Given the description of an element on the screen output the (x, y) to click on. 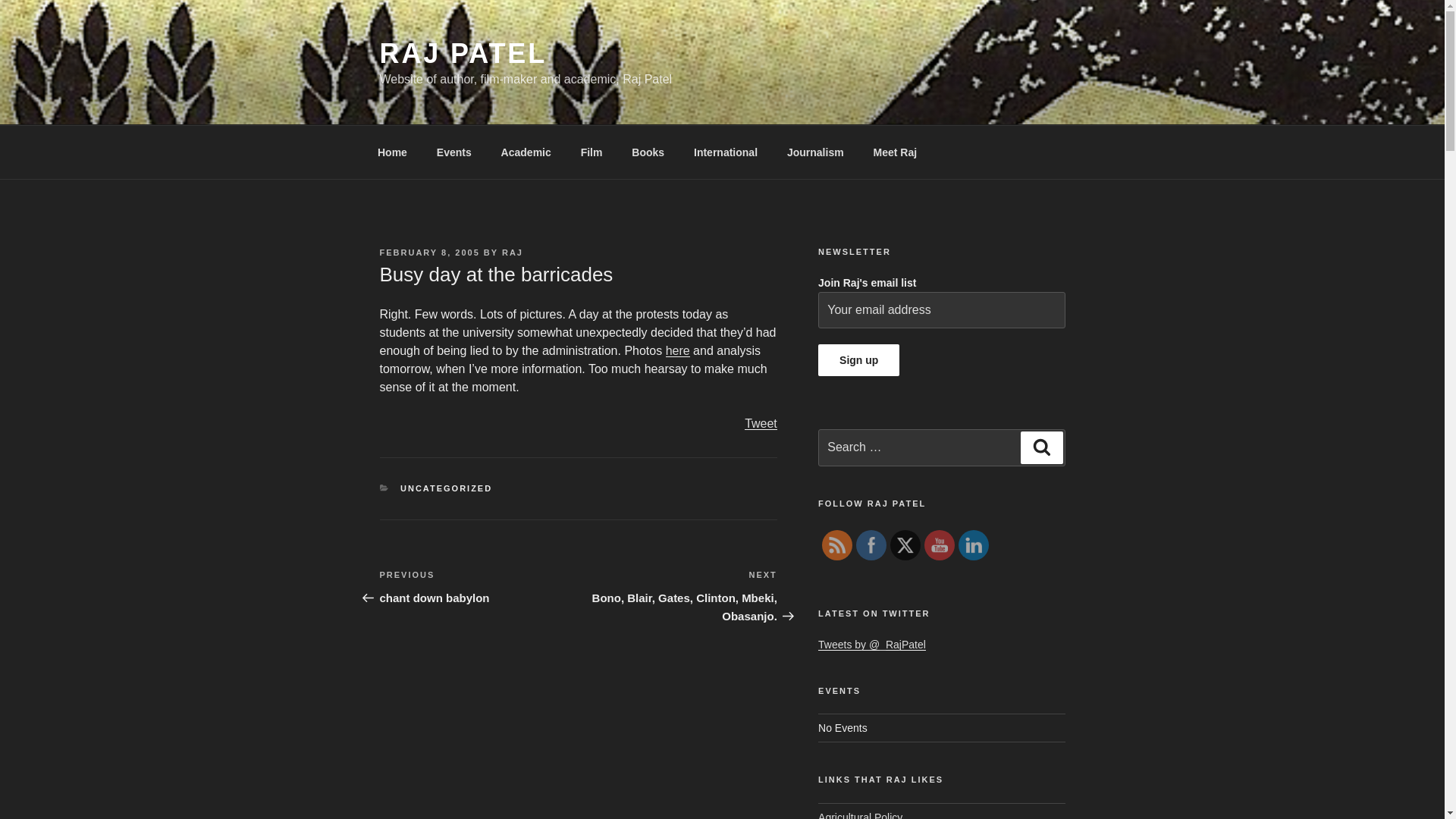
Academic (525, 151)
RAJ (512, 252)
Film (591, 151)
Search (677, 595)
Journalism (1041, 447)
Facebook (815, 151)
Tweet (871, 545)
RAJ PATEL (760, 422)
Meet Raj (462, 52)
International (895, 151)
Twitter (726, 151)
Sign up (905, 544)
Home (858, 359)
Agricultural Policy (392, 151)
